Given the description of an element on the screen output the (x, y) to click on. 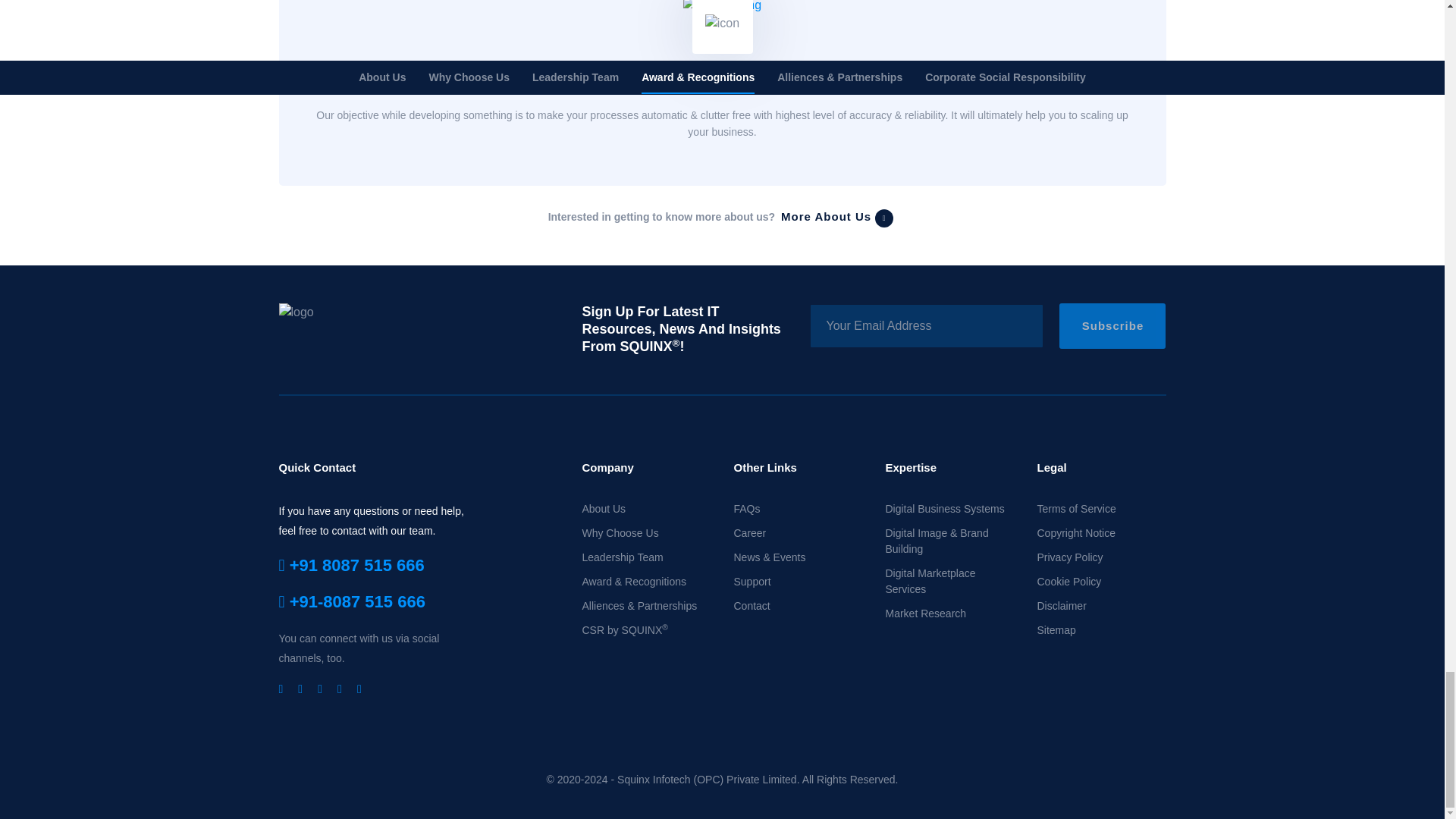
Subscribe (1112, 325)
More About Us (836, 218)
Clutter Free Processing (721, 80)
